Given the description of an element on the screen output the (x, y) to click on. 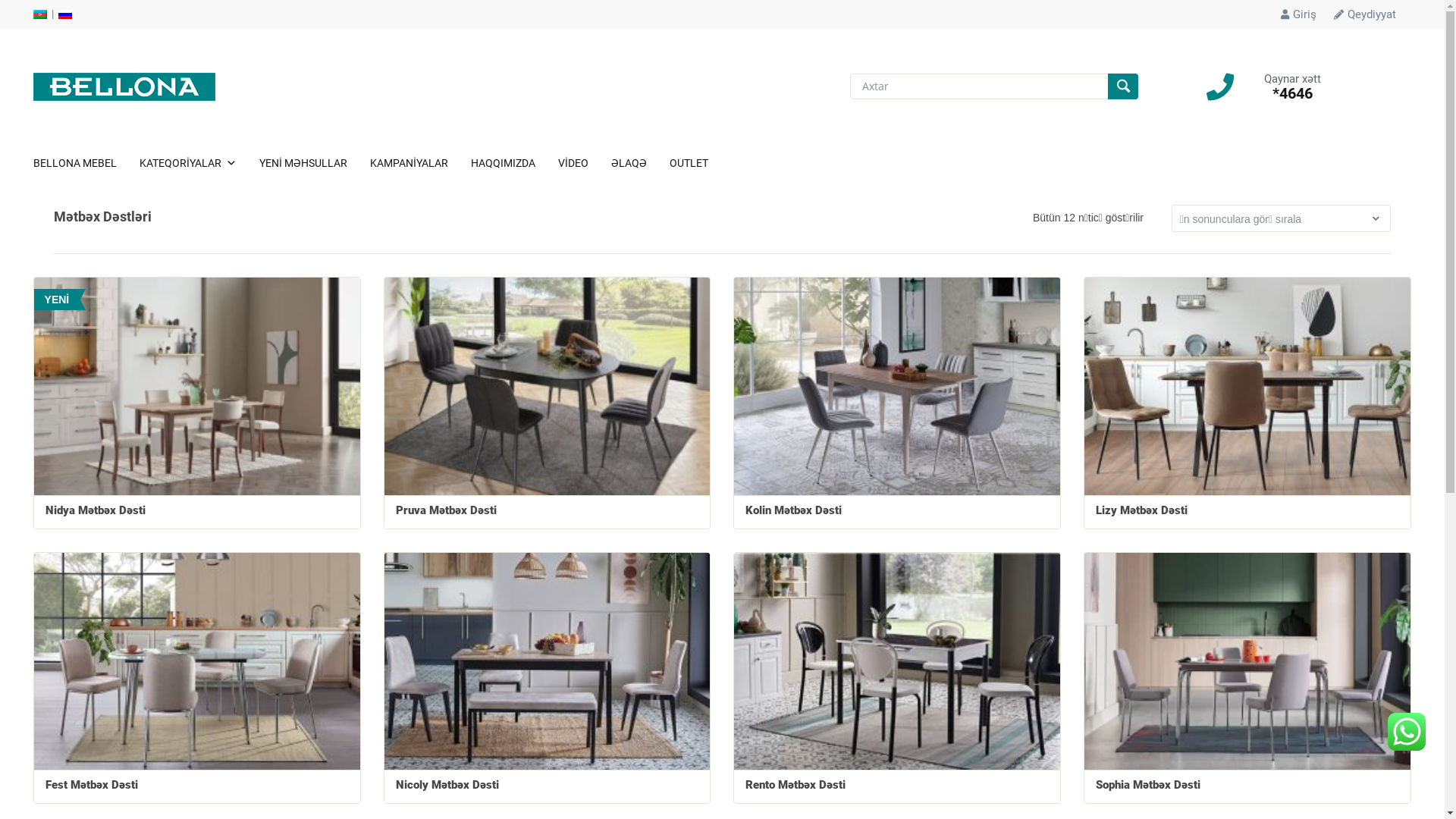
KATEQORIYALAR Element type: text (199, 163)
Qeydiyyat Element type: text (1364, 14)
Axtar Element type: hover (1122, 86)
BELLONA MEBEL Element type: text (86, 163)
KAMPANIYALAR Element type: text (420, 163)
HAQQIMIZDA Element type: text (514, 163)
Bellona Element type: hover (124, 85)
Skip to content Element type: text (32, 18)
VIDEO Element type: text (584, 163)
Skip to content Element type: text (32, 143)
OUTLET Element type: text (700, 163)
